Given the description of an element on the screen output the (x, y) to click on. 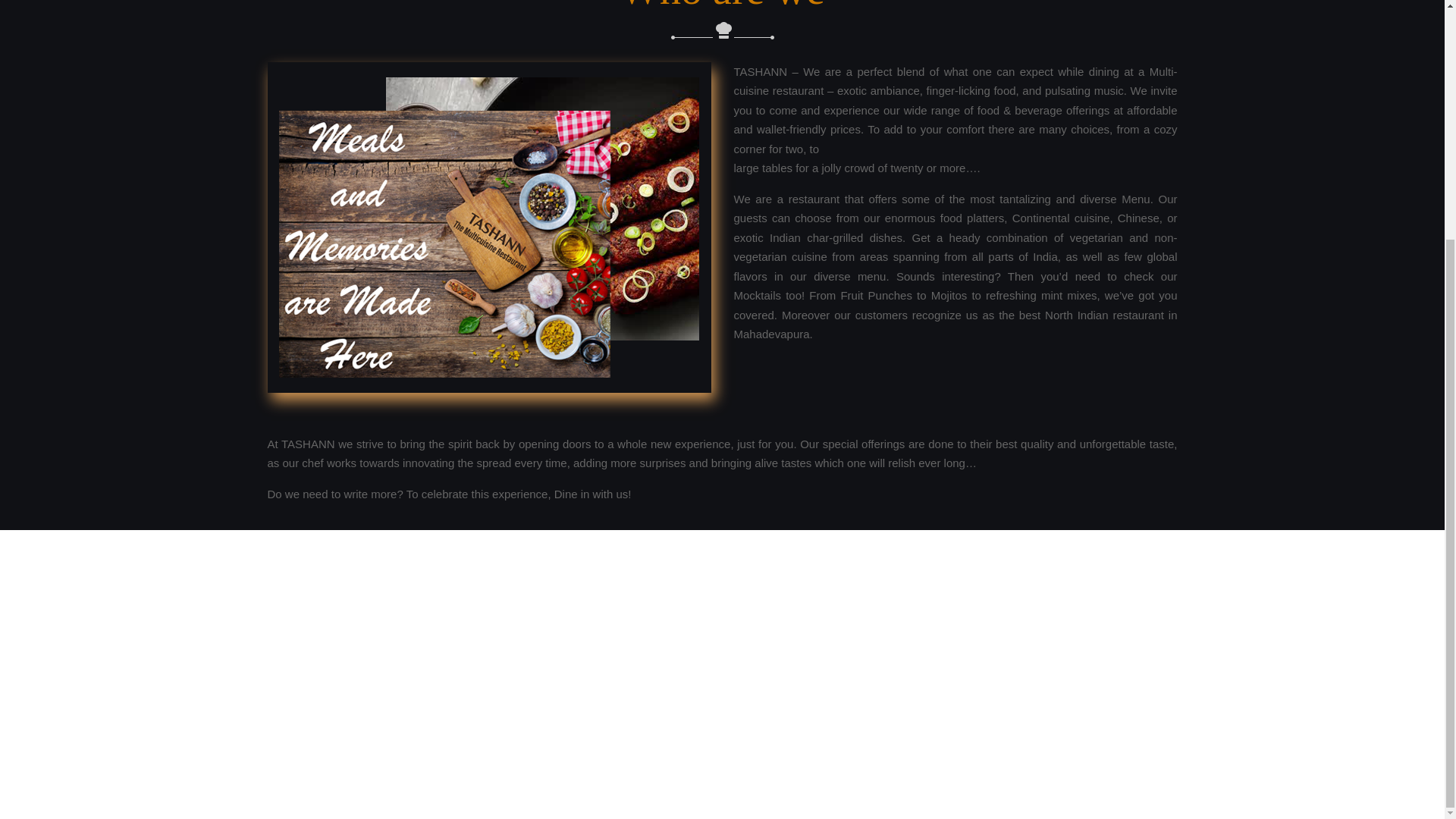
Untitled-1 copy (488, 226)
